Given the description of an element on the screen output the (x, y) to click on. 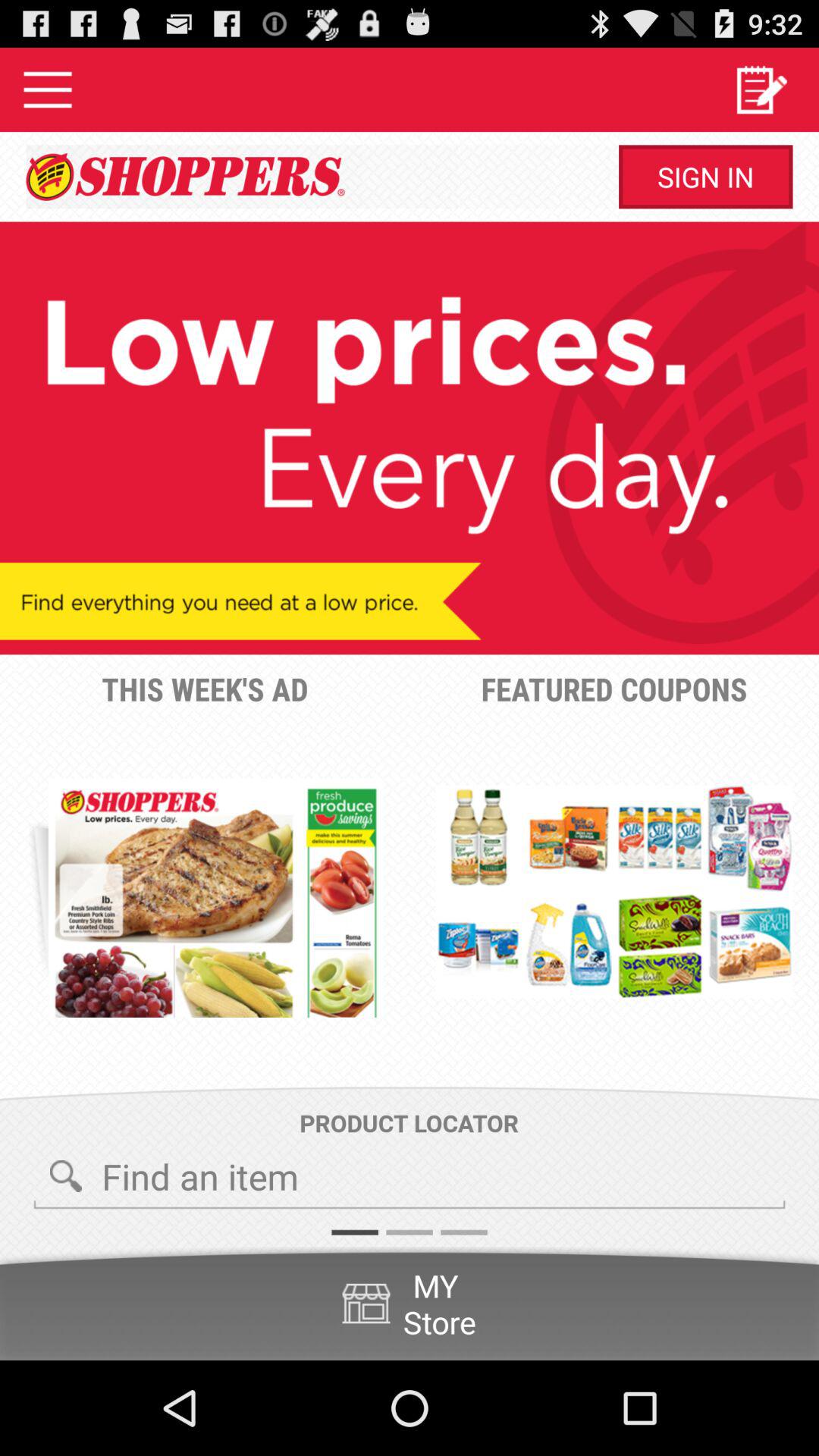
turn on the item below this week s (215, 898)
